Given the description of an element on the screen output the (x, y) to click on. 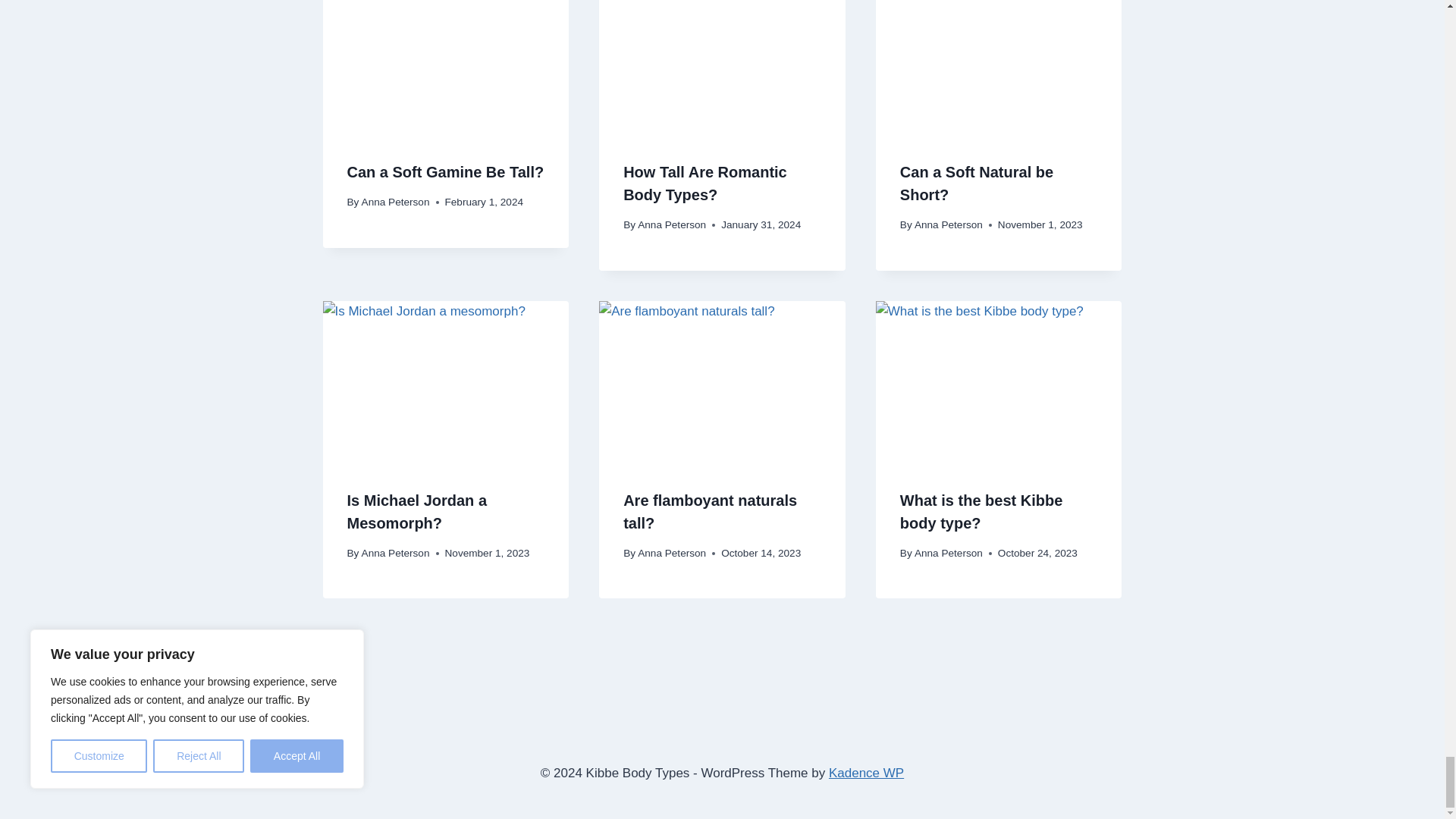
Can a Soft Gamine Be Tall? (445, 171)
Anna Peterson (671, 224)
Anna Peterson (395, 202)
How Tall Are Romantic Body Types? (705, 183)
Can a Soft Natural be Short? (975, 183)
